Given the description of an element on the screen output the (x, y) to click on. 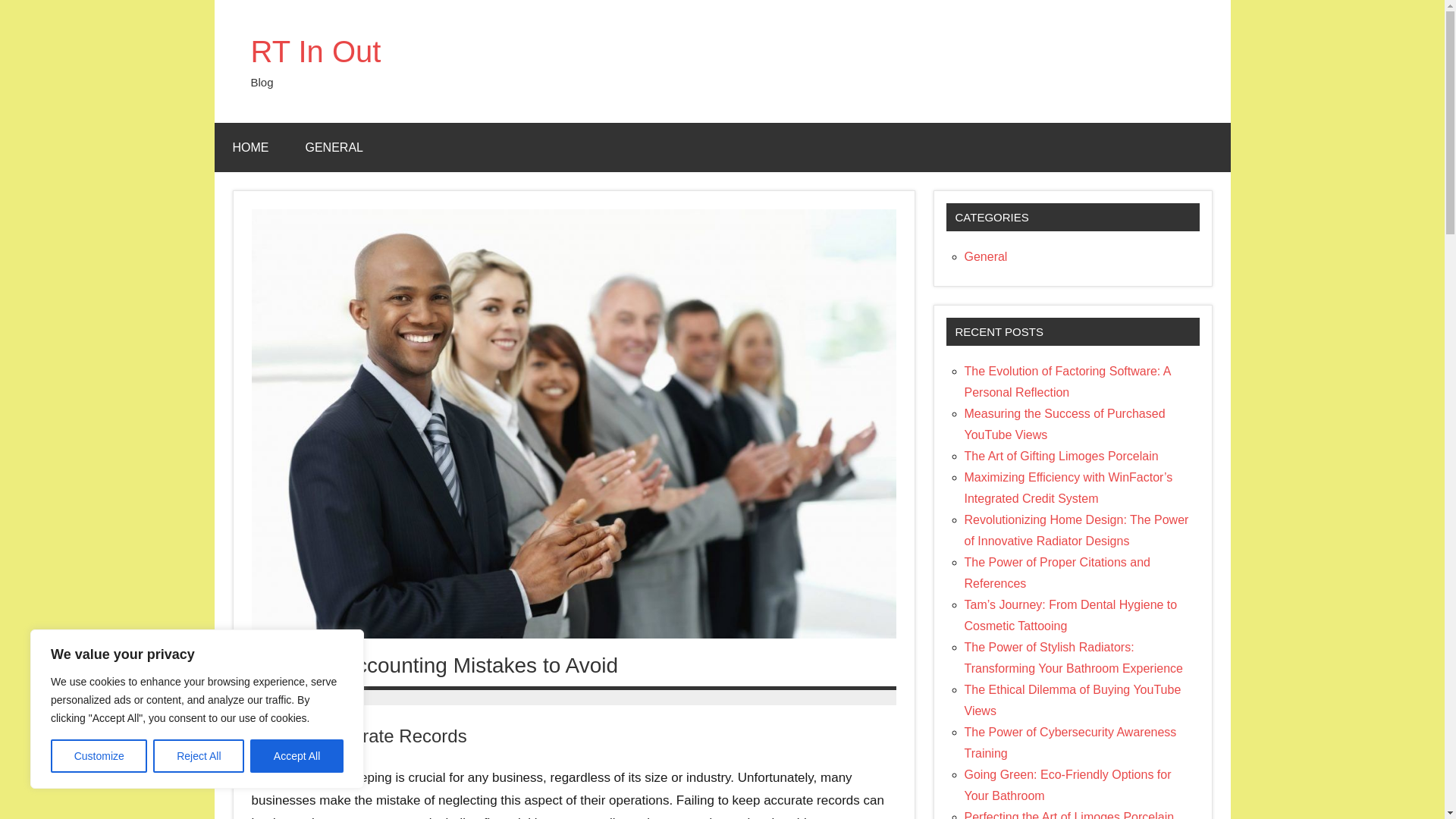
GENERAL (333, 146)
Accept All (296, 756)
The Evolution of Factoring Software: A Personal Reflection (1066, 381)
Measuring the Success of Purchased YouTube Views (1064, 424)
Reject All (198, 756)
HOME (250, 146)
Customize (98, 756)
General (985, 256)
The Art of Gifting Limoges Porcelain (1060, 455)
The Power of Proper Citations and References (1056, 572)
RT In Out (315, 51)
